Given the description of an element on the screen output the (x, y) to click on. 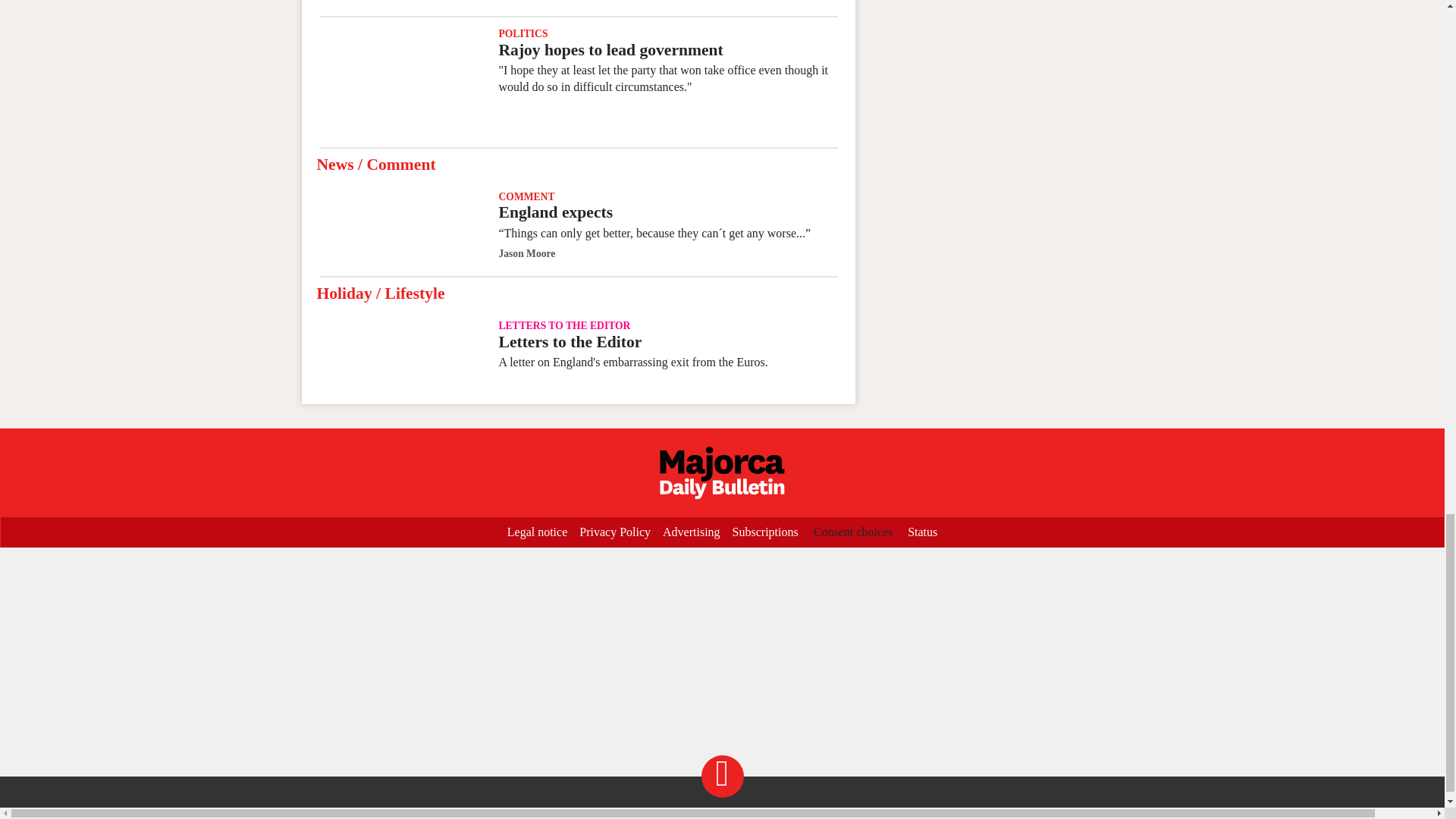
Rajoy hopes to lead government (399, 82)
Government to stop illegal yacht charters in the Balearics (399, 2)
Rajoy hopes to lead government (609, 49)
